Given the description of an element on the screen output the (x, y) to click on. 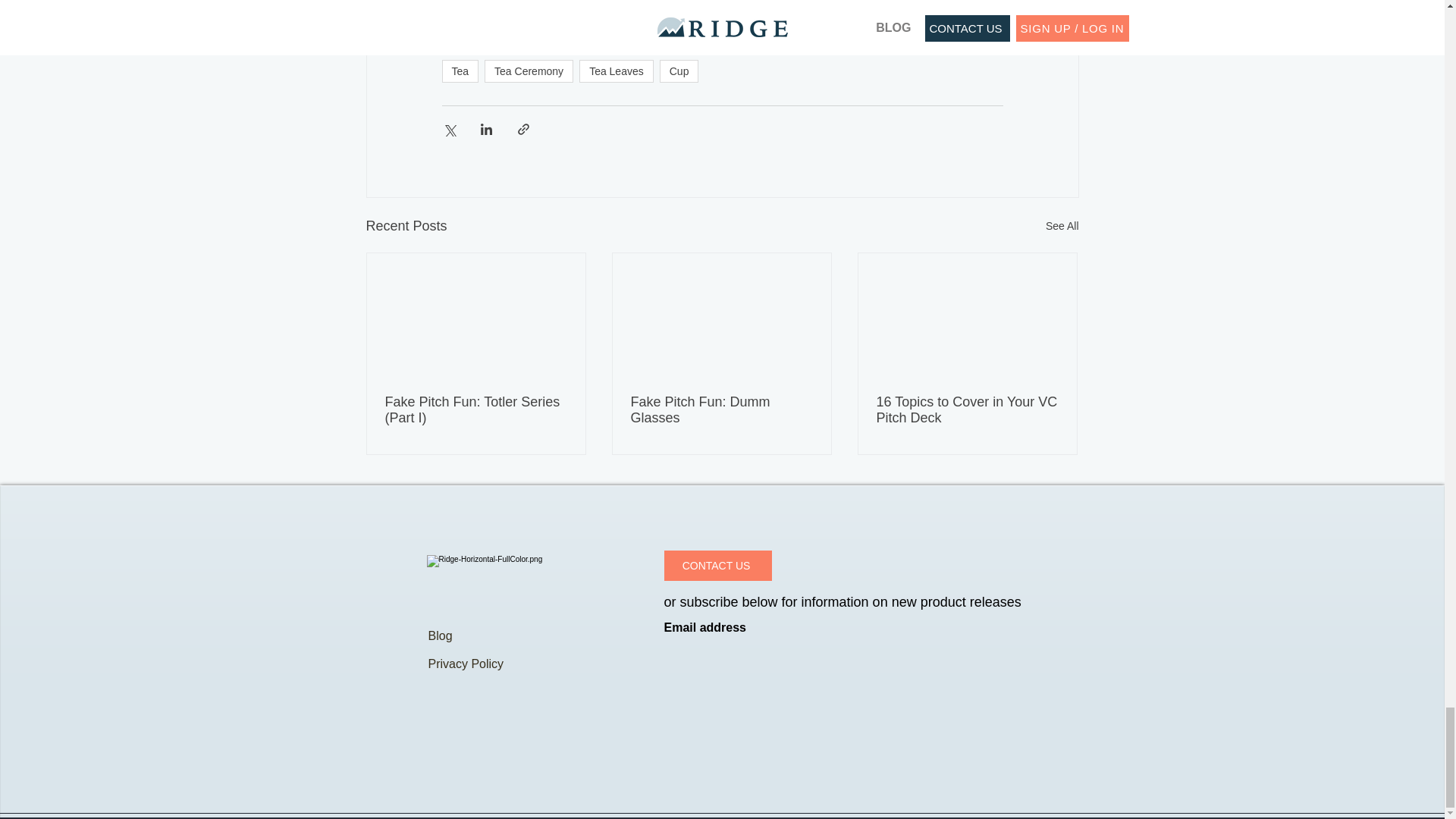
See All (1061, 226)
16 Topics to Cover in Your VC Pitch Deck (967, 409)
Fake Pitch Fun: Dumm Glasses (721, 409)
Tea Leaves (616, 70)
Tea (460, 70)
Tea Ceremony (528, 70)
Cup (678, 70)
Ridge (500, 14)
CONTACT US (717, 565)
